Given the description of an element on the screen output the (x, y) to click on. 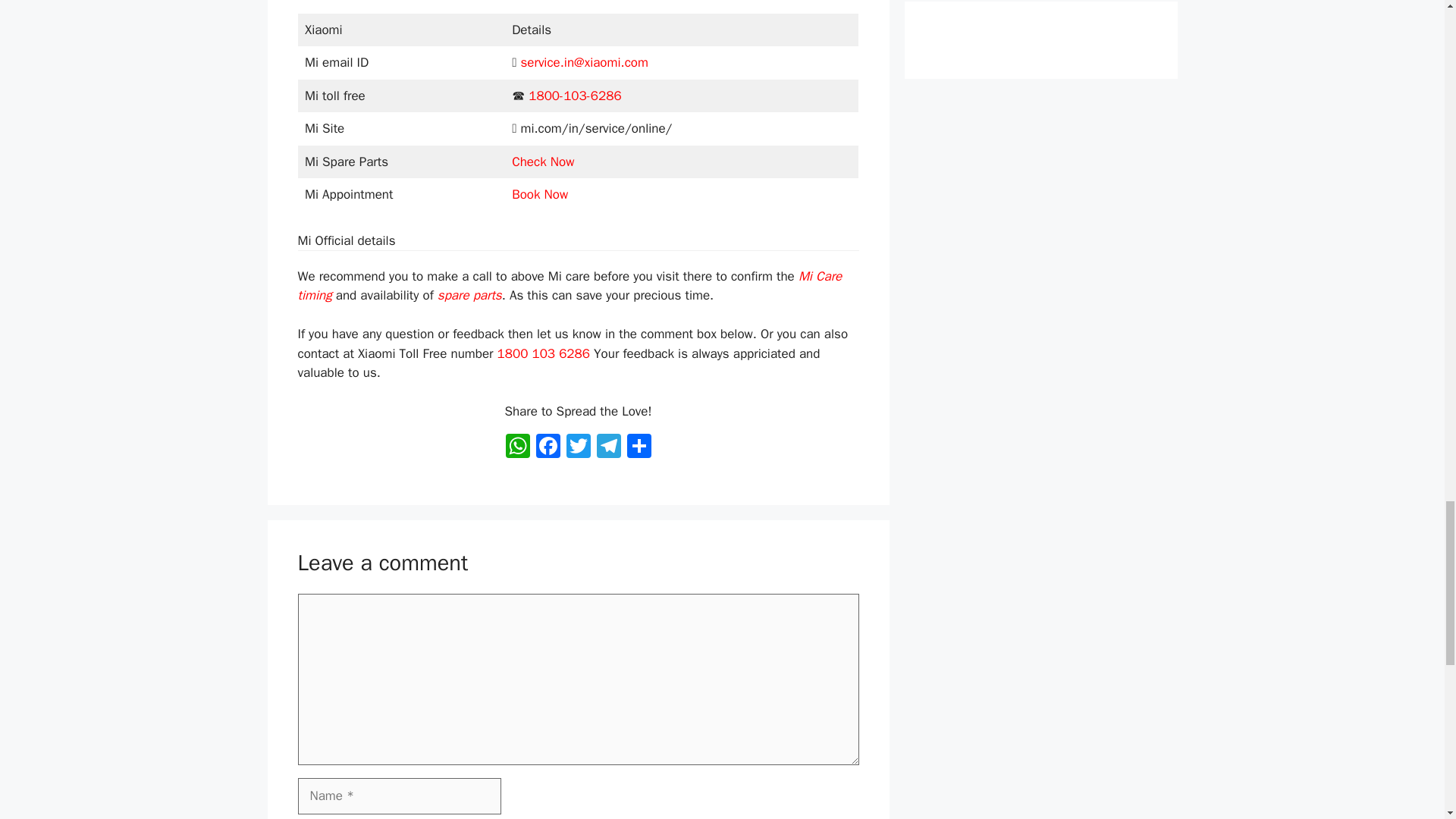
Facebook (547, 448)
WhatsApp (517, 448)
Twitter (577, 448)
Telegram (607, 448)
